Given the description of an element on the screen output the (x, y) to click on. 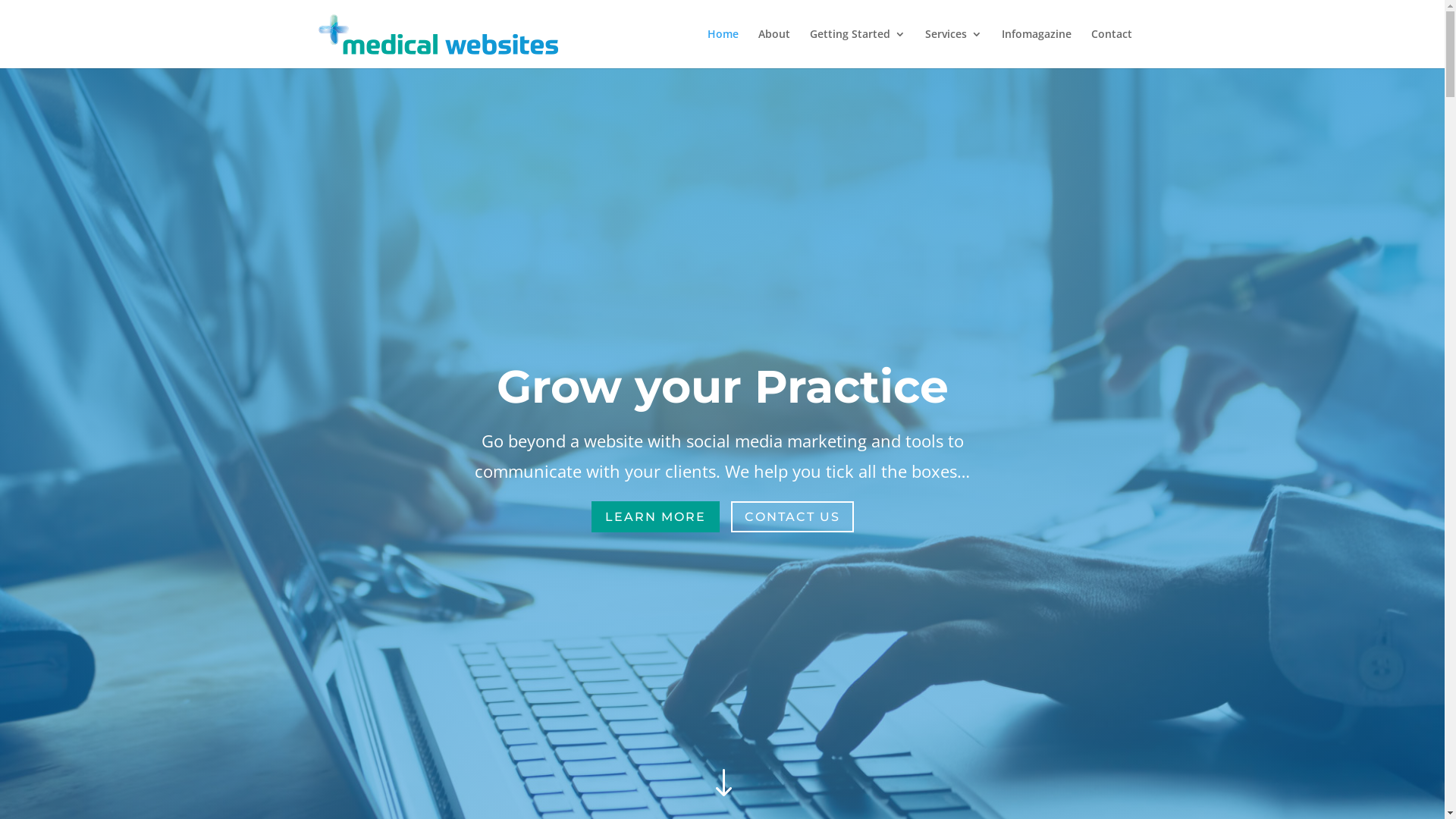
LEARN MORE Element type: text (655, 516)
Getting Started Element type: text (857, 48)
Home Element type: text (721, 48)
Infomagazine Element type: text (1035, 48)
About Element type: text (774, 48)
" Element type: text (721, 783)
Services Element type: text (953, 48)
Contact Element type: text (1110, 48)
CONTACT US Element type: text (792, 516)
